Given the description of an element on the screen output the (x, y) to click on. 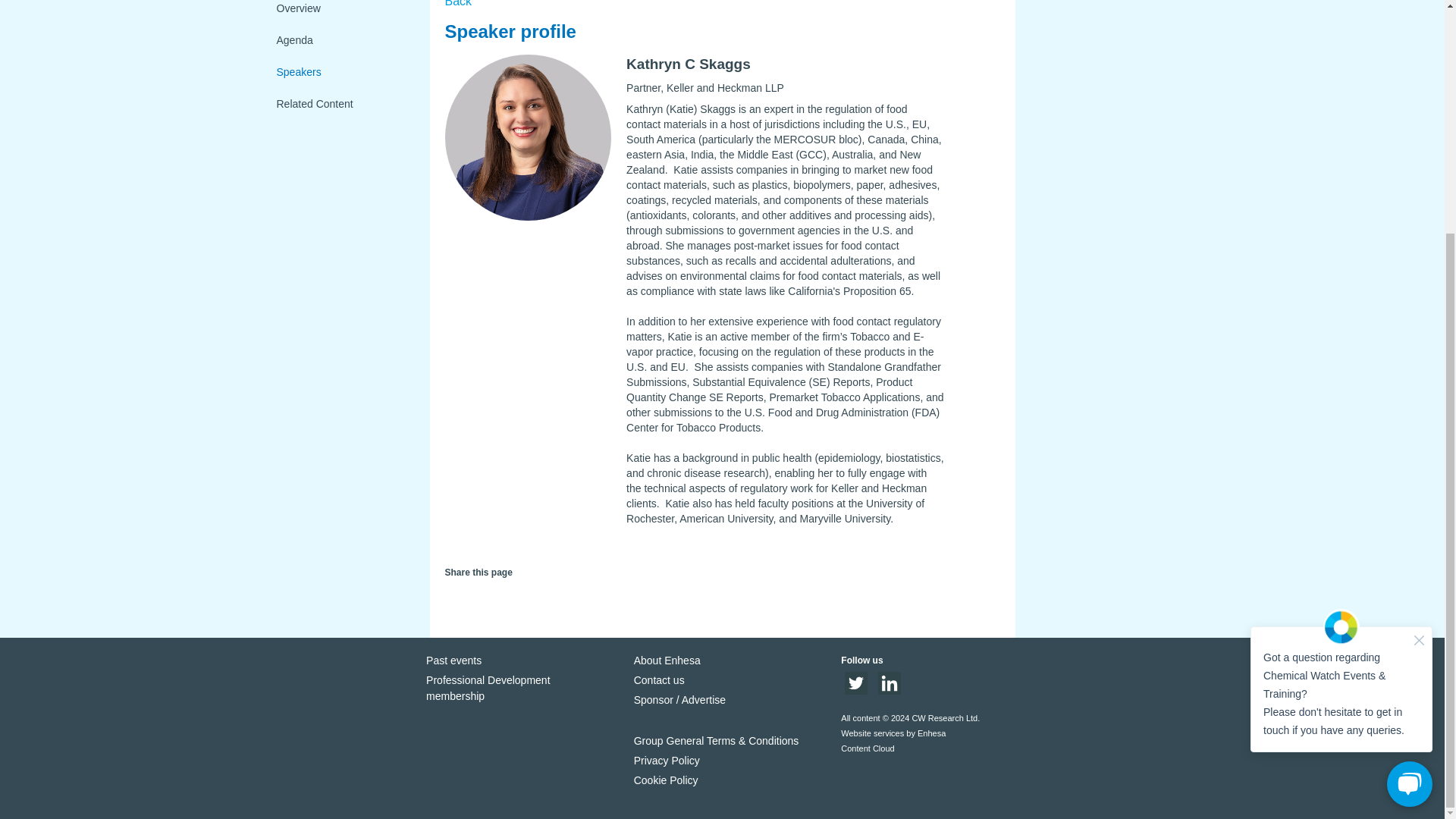
Share on Twitter (452, 598)
3rd party ad content (1101, 104)
About Enhesa (666, 660)
Contact us (658, 680)
Join us on LinkedIn (889, 690)
Privacy Policy (666, 760)
Cookie Policy (665, 779)
Back (457, 3)
Past events (453, 660)
Share on LinkedIn (472, 598)
Overview (340, 12)
Related Content (340, 103)
Print View (526, 595)
Print View (526, 598)
